Given the description of an element on the screen output the (x, y) to click on. 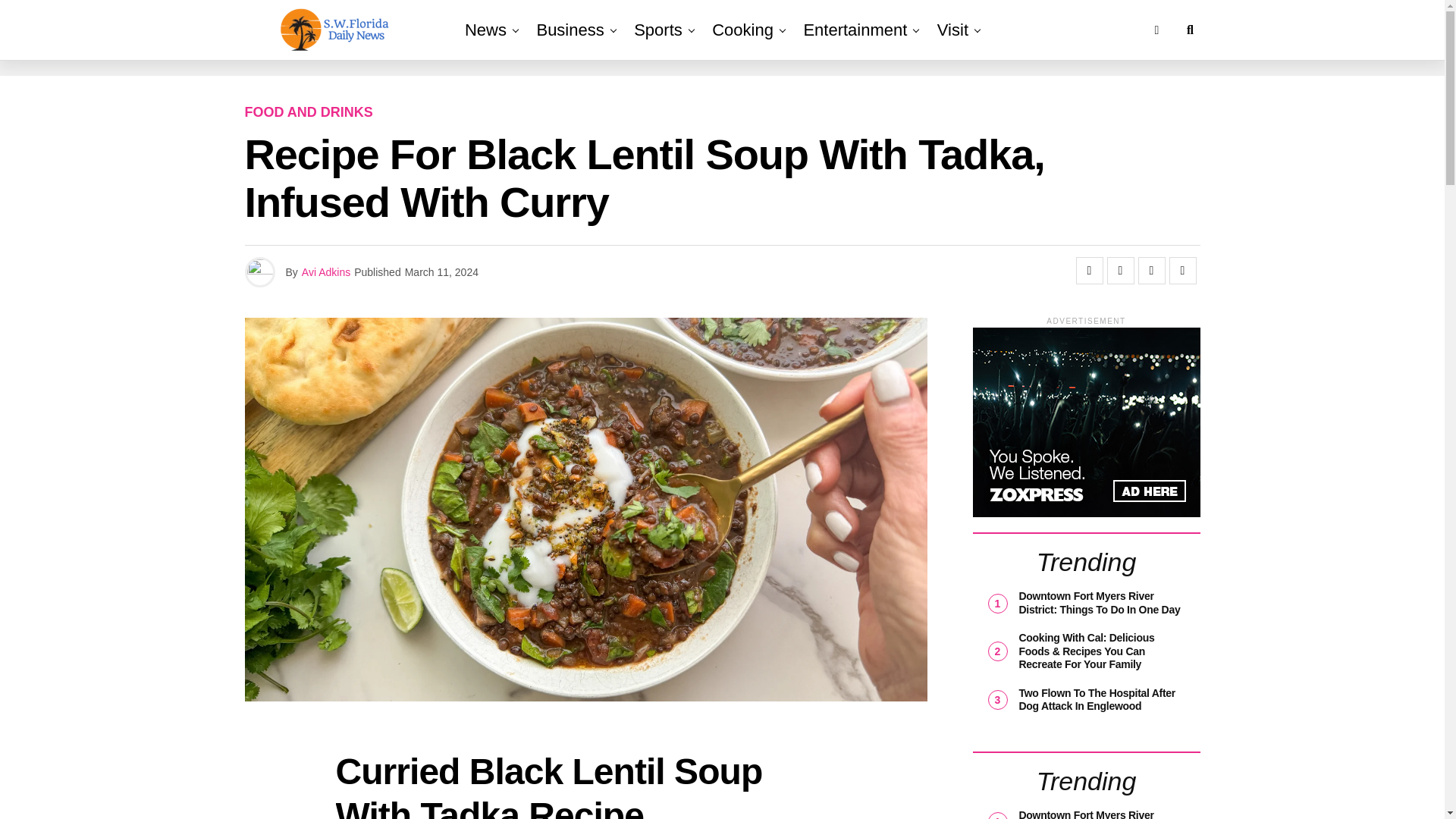
Cooking (742, 30)
Posts by Avi Adkins (325, 272)
Sports (658, 30)
Business (569, 30)
Tweet This Post (1120, 270)
News (485, 30)
Entertainment (854, 30)
Share on Facebook (1088, 270)
